Given the description of an element on the screen output the (x, y) to click on. 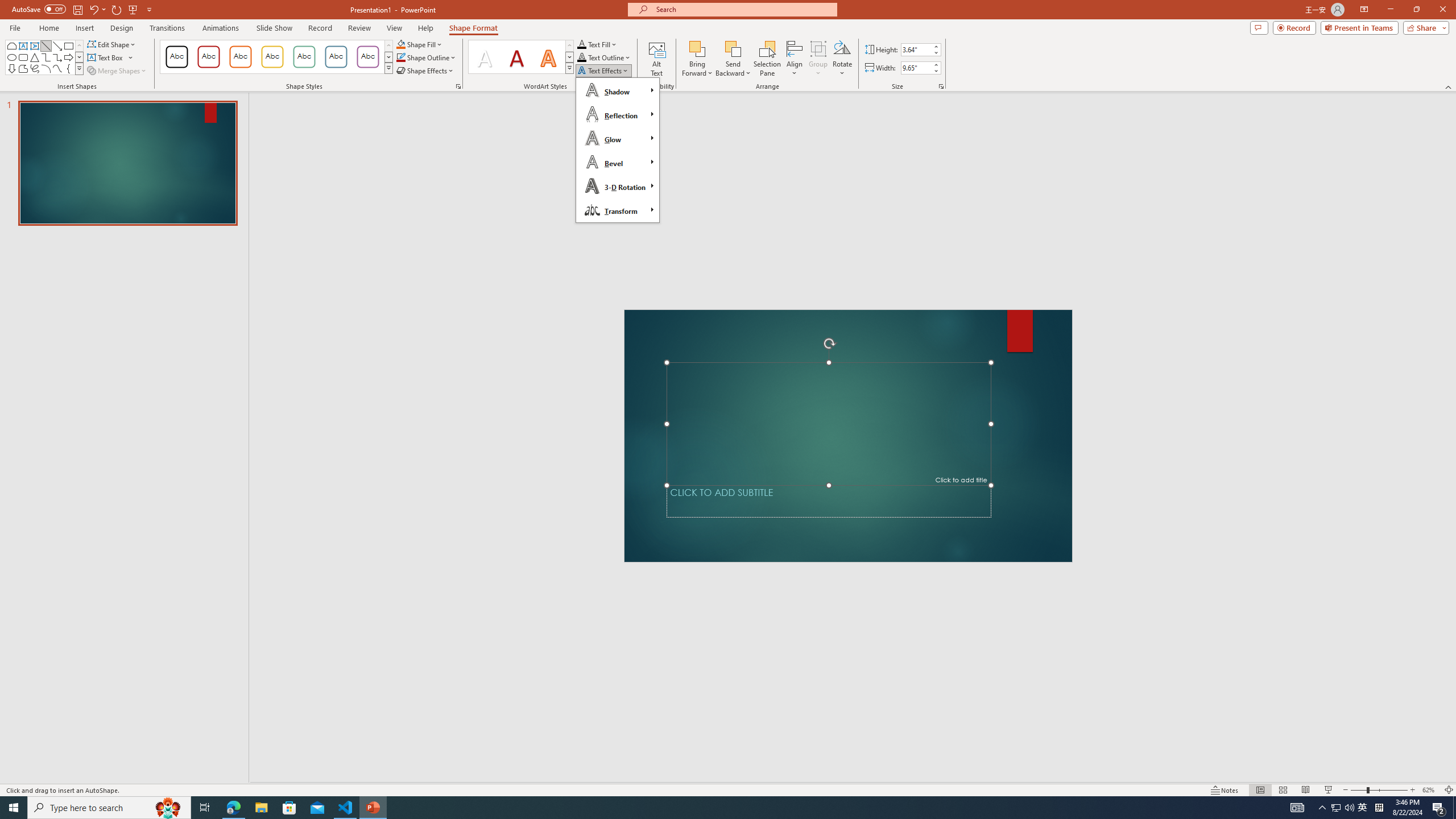
Rectangle: Top Corners Snipped (11, 45)
Colored Outline - Blue-Gray, Accent 5 (336, 56)
Send Backward (733, 48)
